Given the description of an element on the screen output the (x, y) to click on. 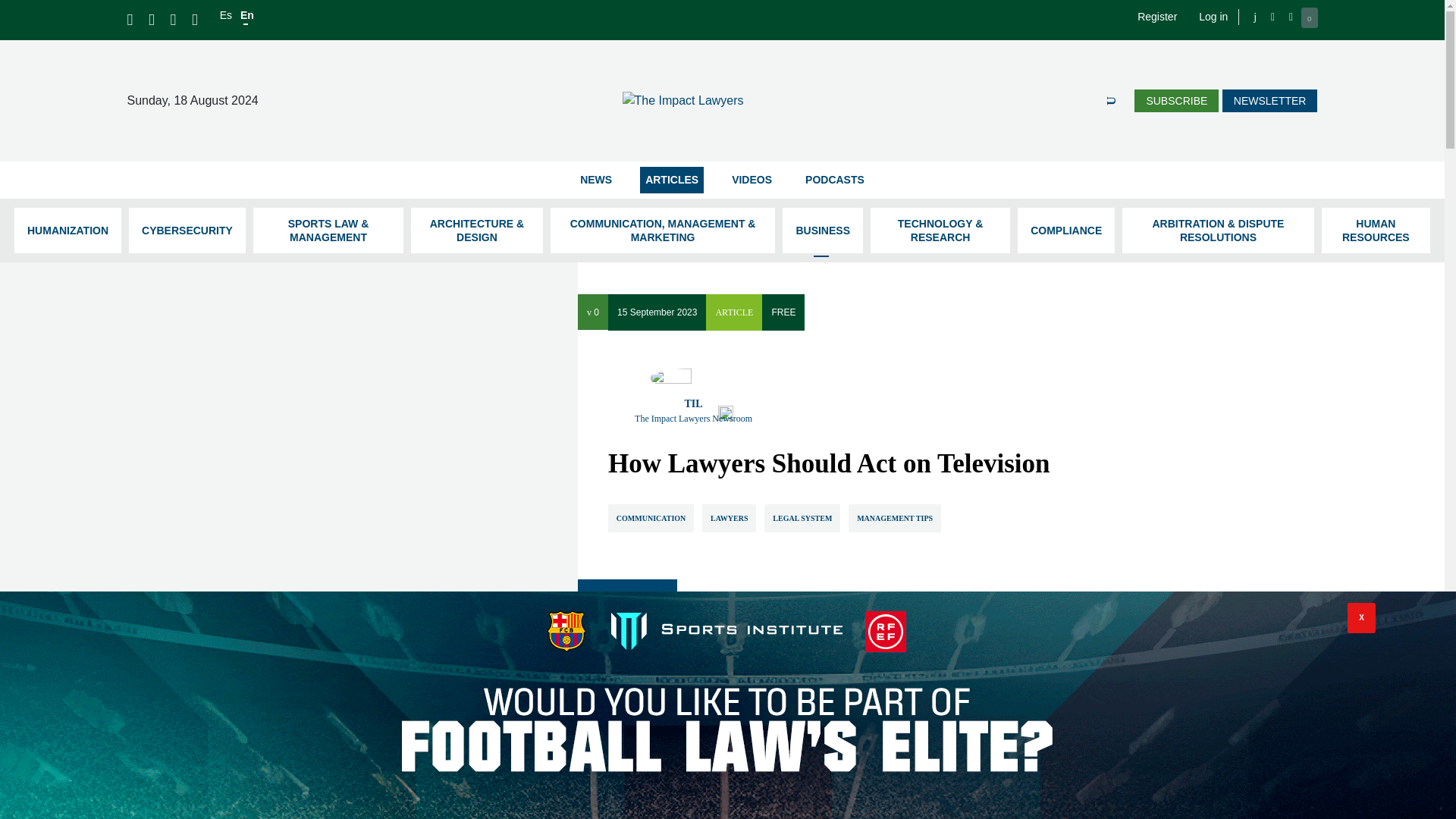
PODCASTS (834, 180)
En (246, 15)
NEWSLETTER (1270, 100)
NEWS (596, 180)
VIDEOS (751, 180)
HUMANIZATION (67, 230)
SUBSCRIBE (1176, 100)
BUSINESS (823, 230)
CYBERSECURITY (187, 230)
ARTICLES (671, 180)
